Given the description of an element on the screen output the (x, y) to click on. 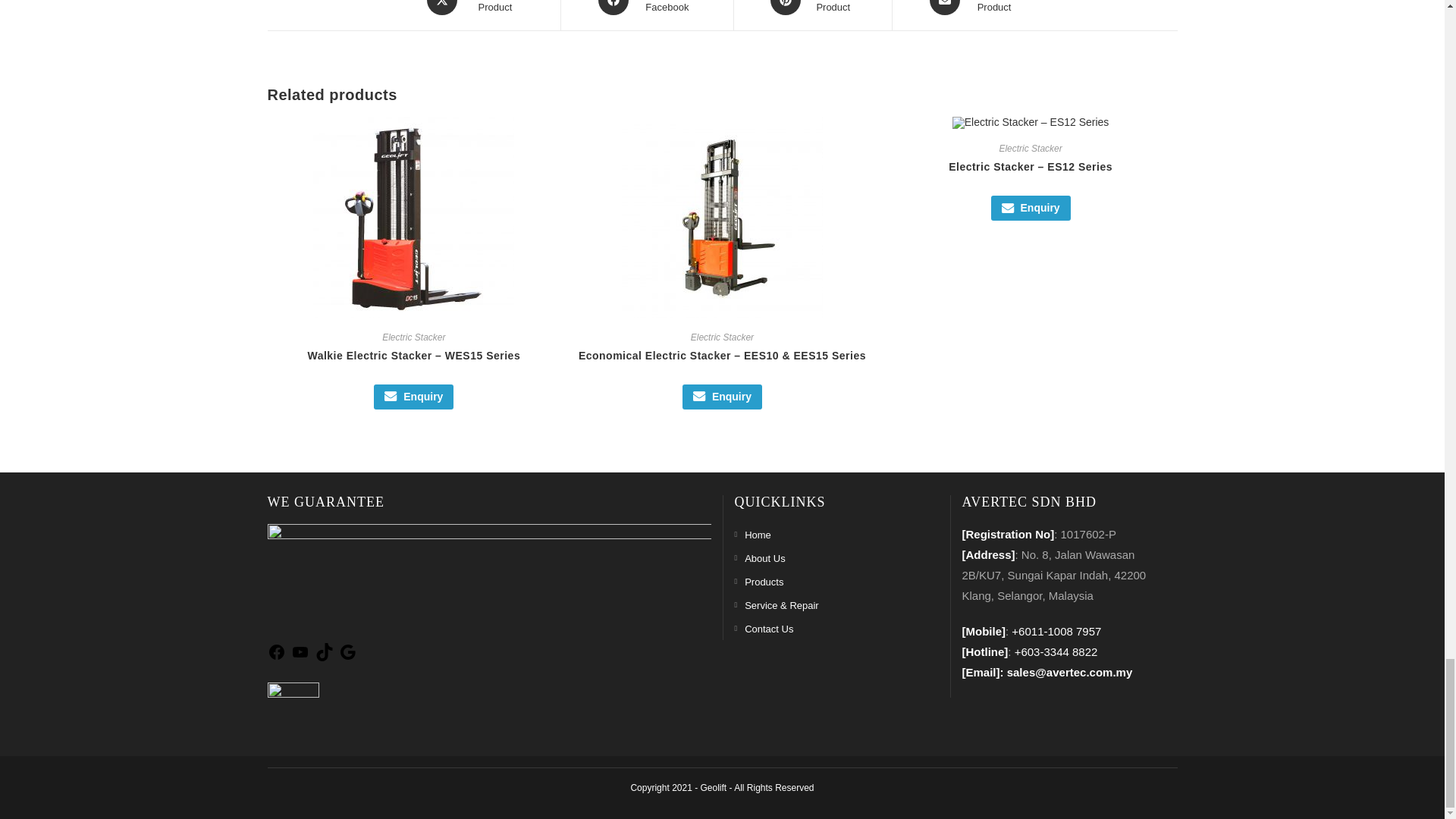
Pin This Product (813, 7)
Tweet This Product (474, 7)
Share on Facebook (646, 7)
